Given the description of an element on the screen output the (x, y) to click on. 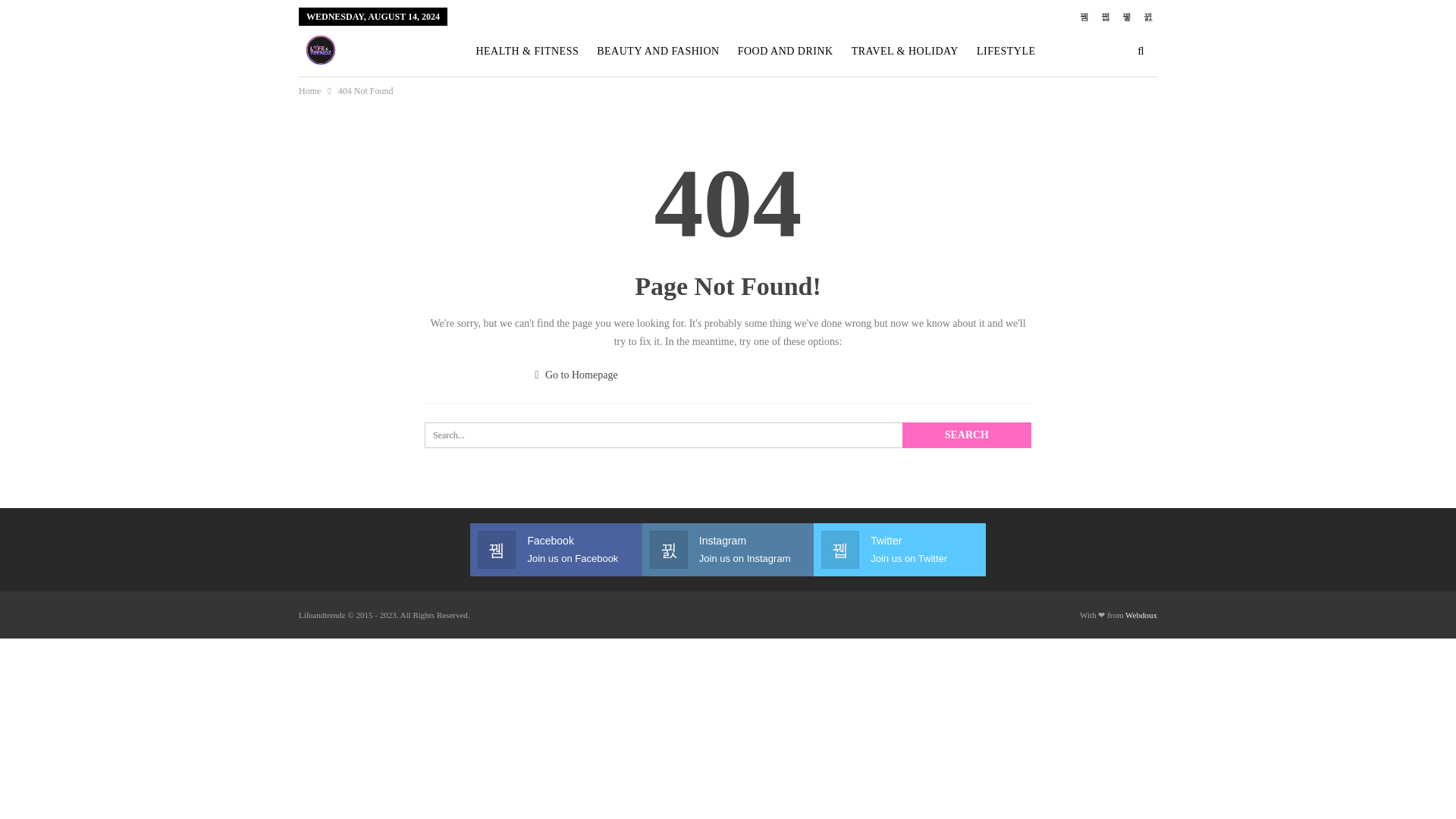
FOOD AND DRINK (785, 51)
BEAUTY AND FASHION (657, 51)
LIFESTYLE (1006, 51)
TRENDING NOW (629, 101)
ENTERTAINMENT (555, 549)
Search for: (521, 101)
Search (727, 549)
Home (727, 434)
